Given the description of an element on the screen output the (x, y) to click on. 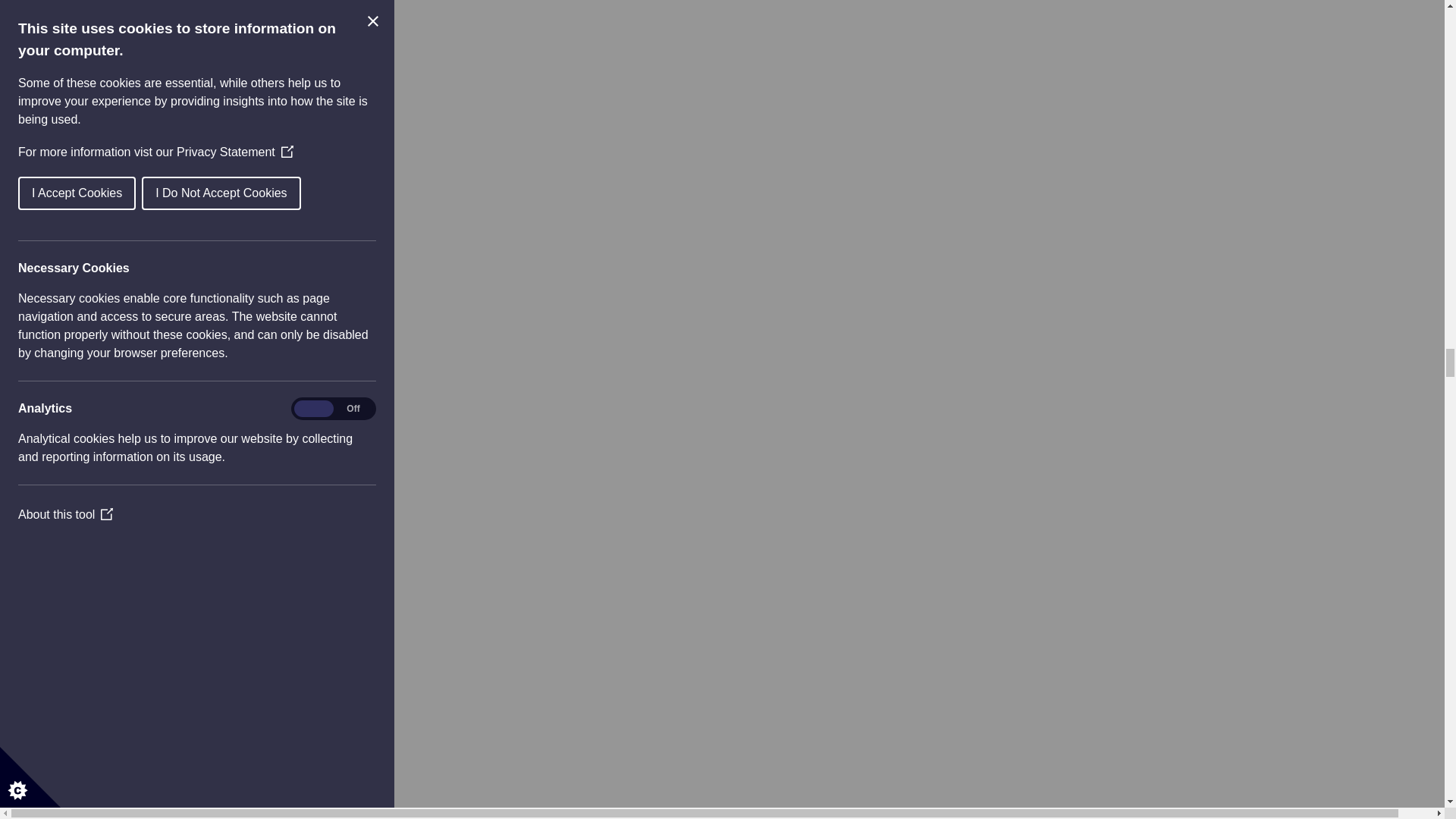
01 (92, 283)
